Given the description of an element on the screen output the (x, y) to click on. 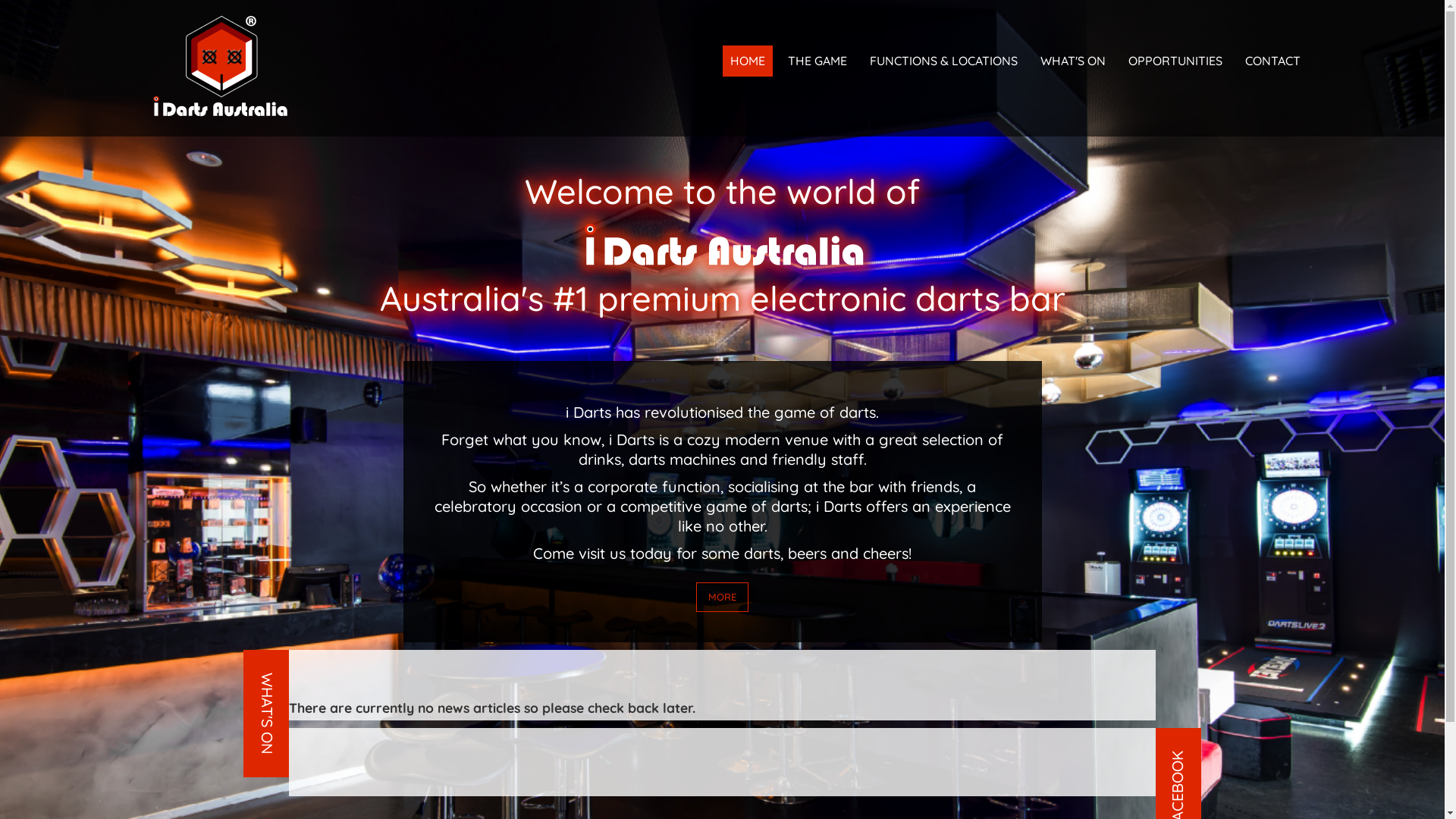
MORE Element type: text (722, 596)
HOME Element type: text (746, 60)
i Darts Australia Element type: hover (219, 64)
FUNCTIONS & LOCATIONS Element type: text (942, 60)
CONTACT Element type: text (1272, 60)
WHAT'S ON Element type: text (1072, 60)
OPPORTUNITIES Element type: text (1175, 60)
THE GAME Element type: text (816, 60)
